Given the description of an element on the screen output the (x, y) to click on. 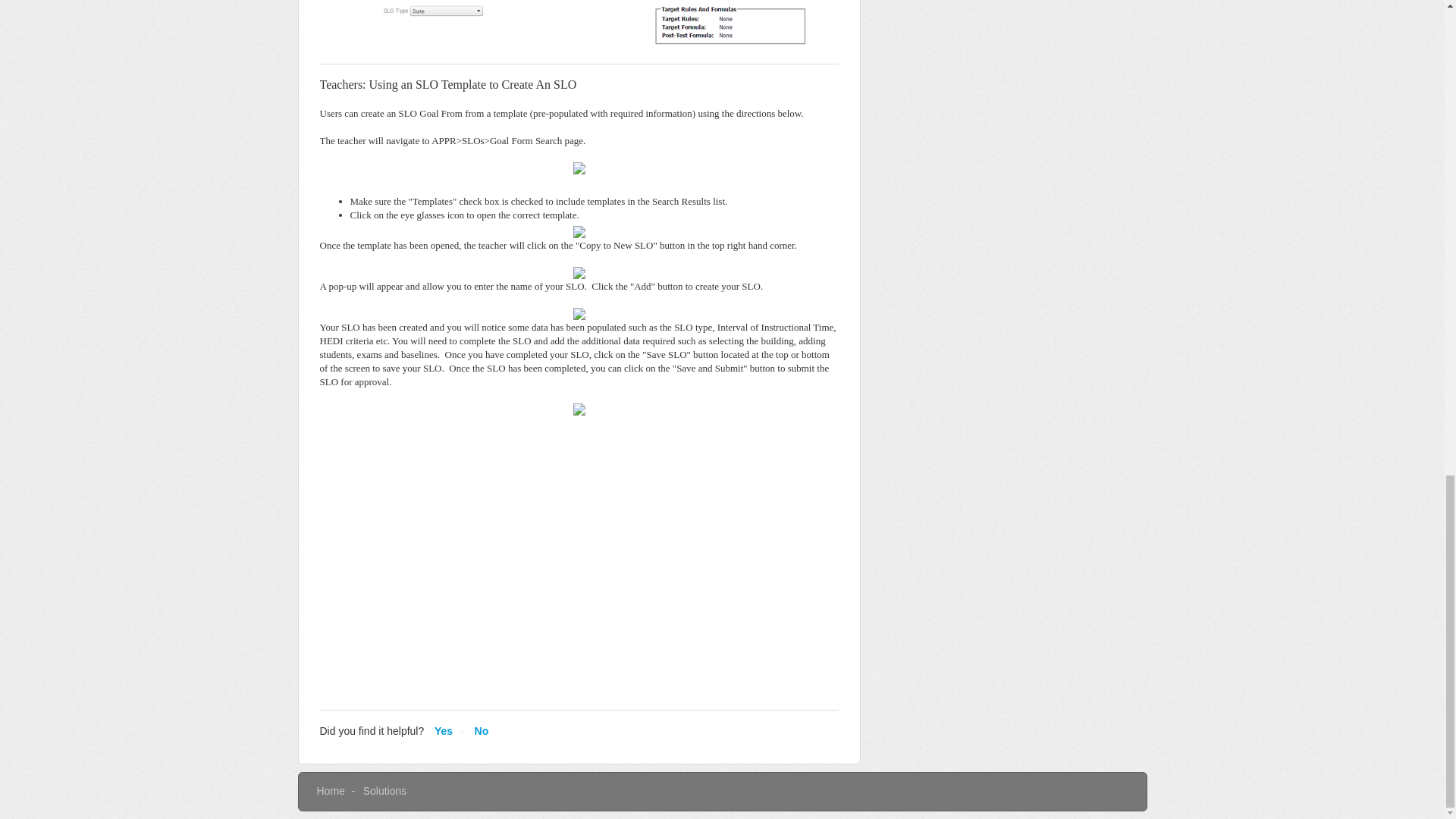
Solutions (384, 790)
Home (331, 790)
